Given the description of an element on the screen output the (x, y) to click on. 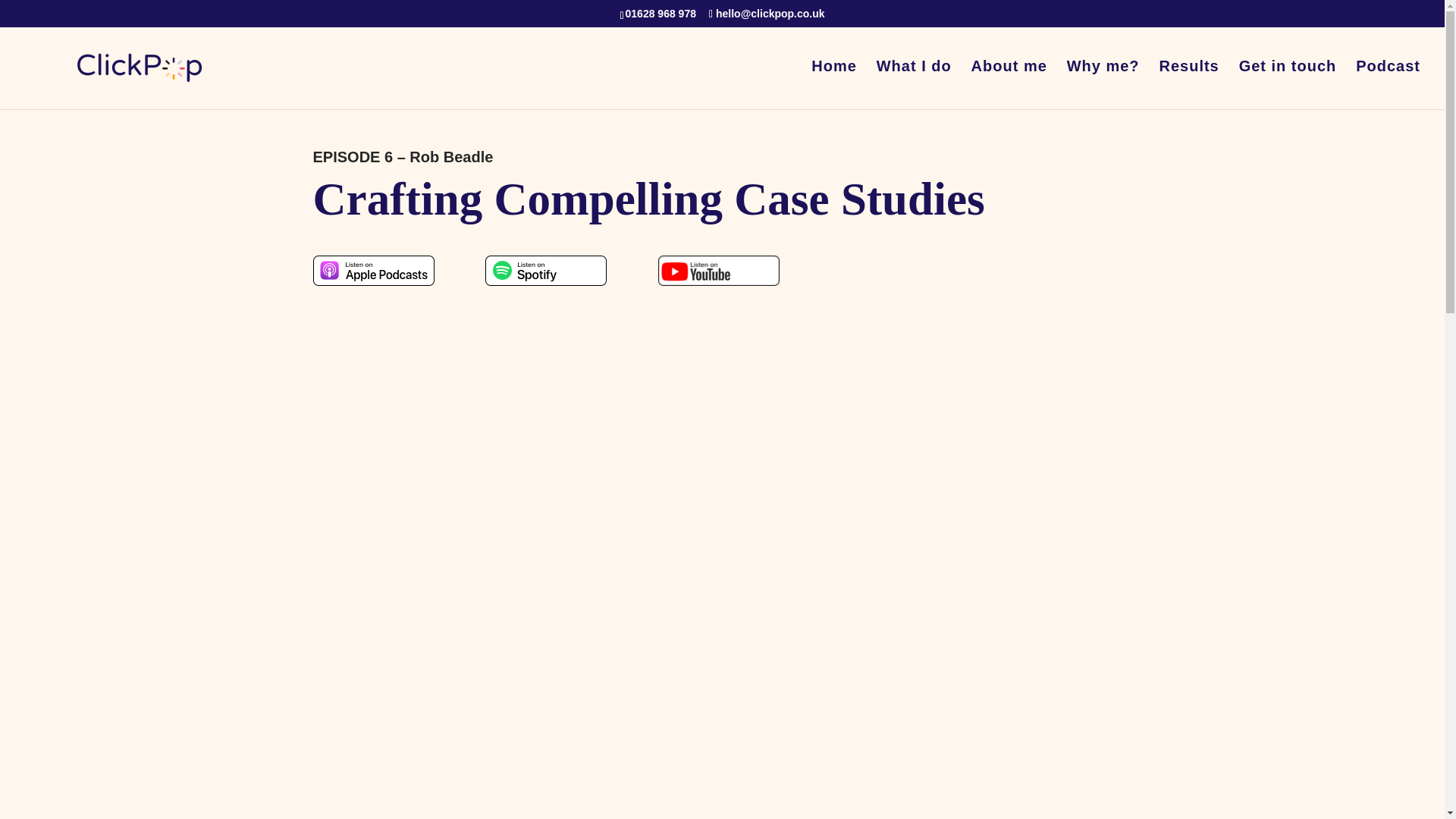
About me (1008, 84)
Why me? (1103, 84)
Podcast (1388, 84)
Results (1188, 84)
Apple Podcasts (373, 270)
Home (833, 84)
Get in touch (1287, 84)
What I do (914, 84)
Spotify (545, 270)
